Given the description of an element on the screen output the (x, y) to click on. 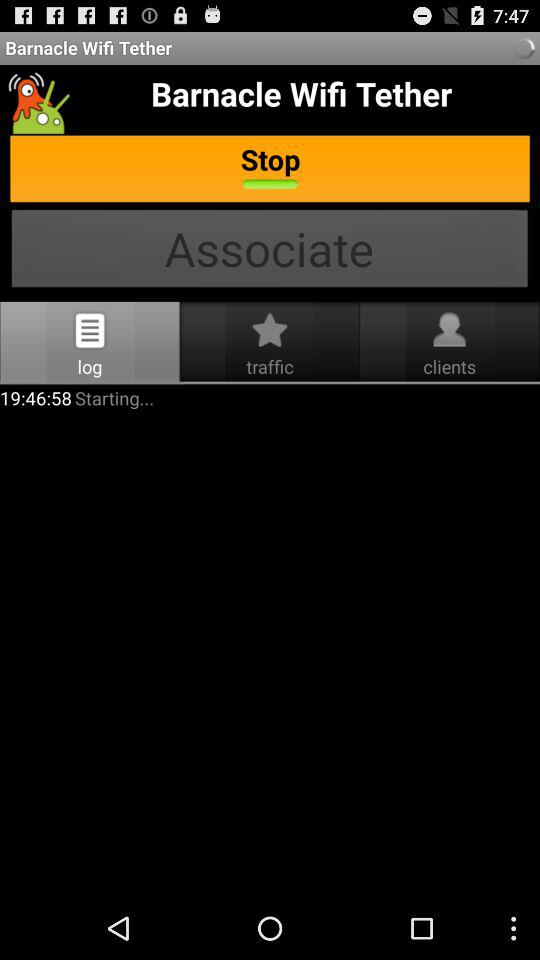
click the icon below stop icon (269, 250)
